Given the description of an element on the screen output the (x, y) to click on. 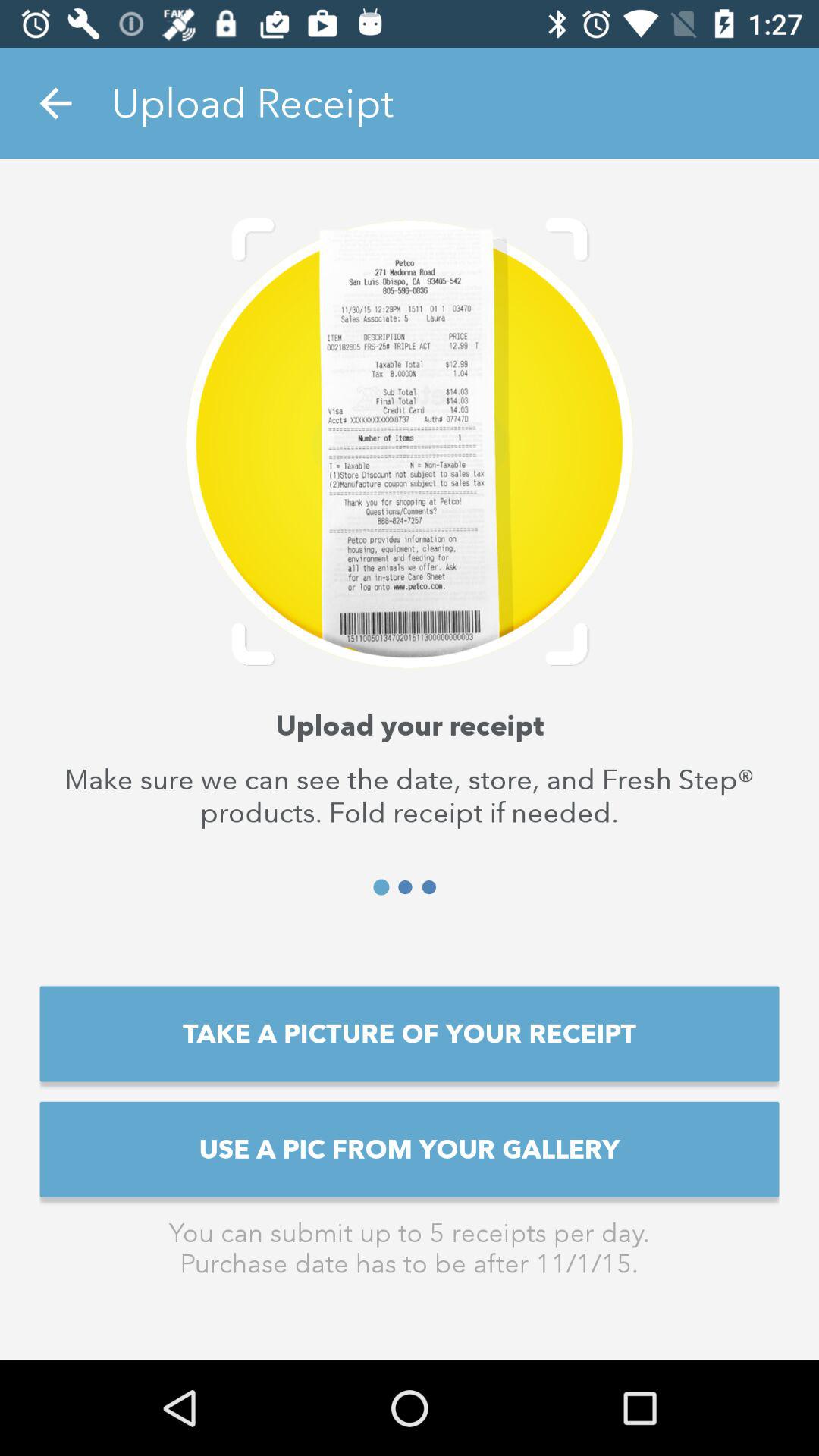
swipe until the take a picture (409, 1033)
